Given the description of an element on the screen output the (x, y) to click on. 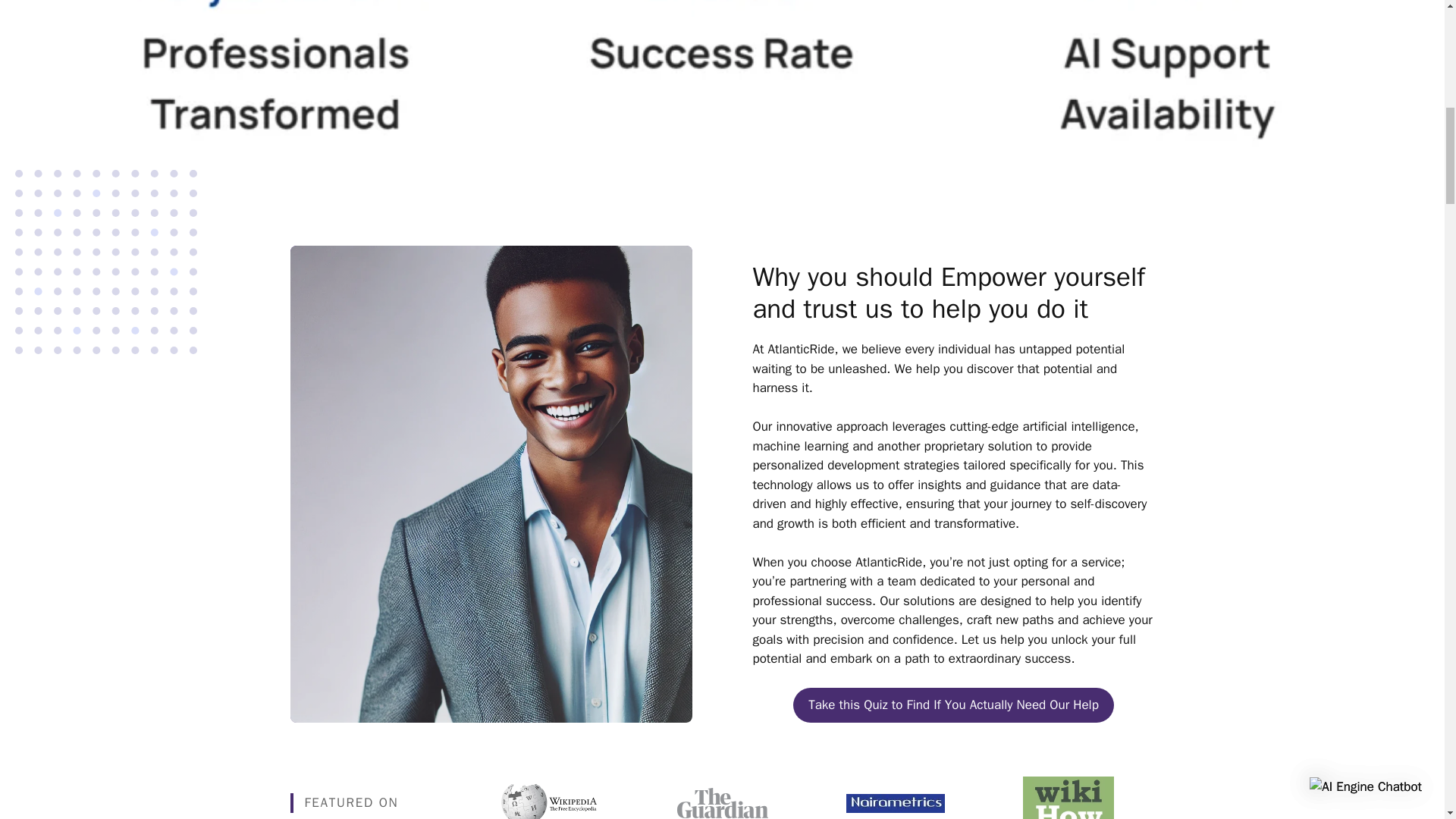
Take this Quiz to Find If You Actually Need Our Help (953, 704)
Home 4 (722, 802)
Home 3 (549, 797)
Home 6 (1067, 797)
Home 5 (894, 803)
